Given the description of an element on the screen output the (x, y) to click on. 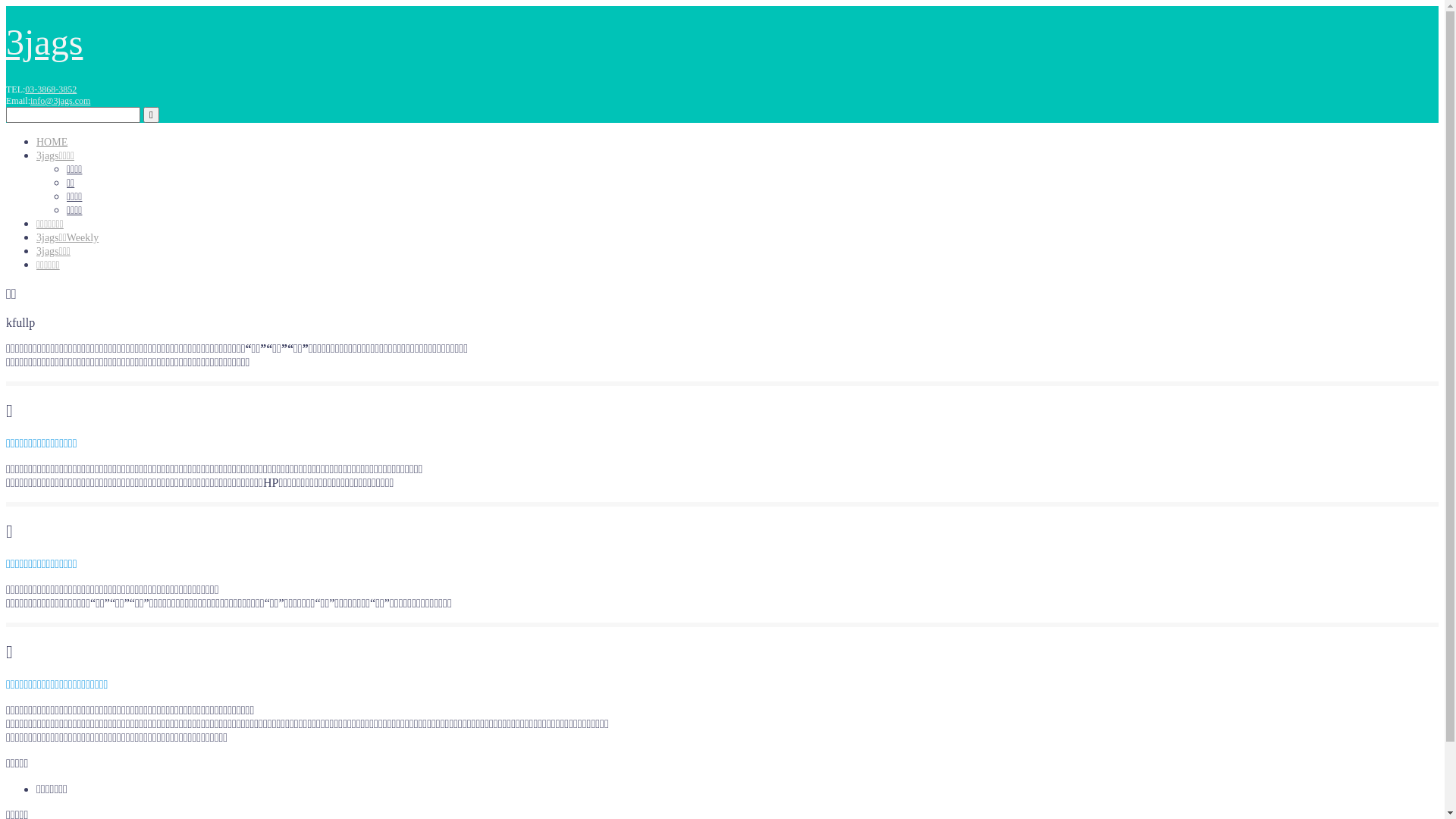
3jags Element type: text (44, 41)
HOME Element type: text (51, 141)
info@3jags.com Element type: text (60, 100)
03-3868-3852 Element type: text (50, 89)
